Given the description of an element on the screen output the (x, y) to click on. 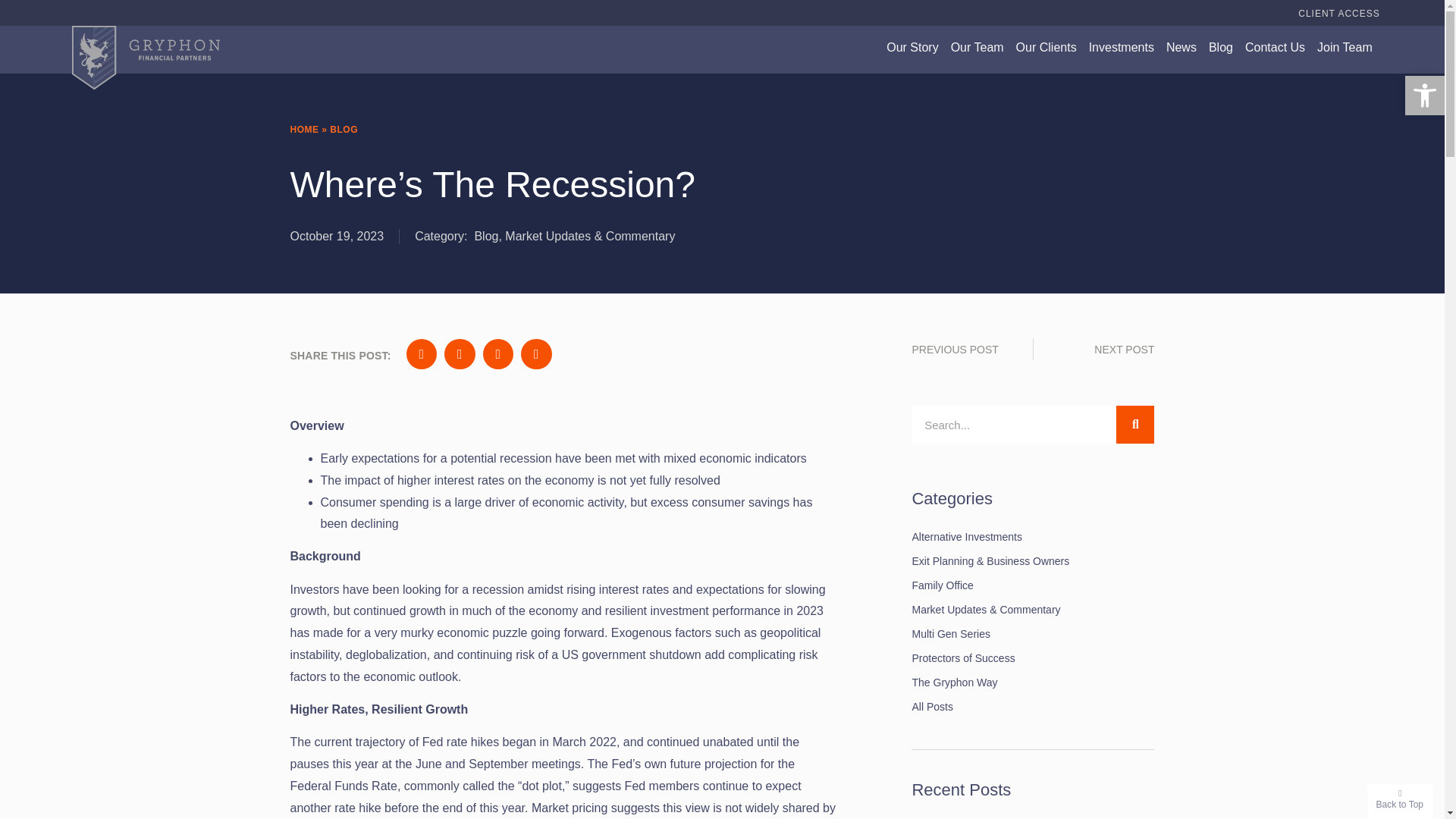
Our Story (911, 47)
Accessibility Tools (1424, 95)
CLIENT ACCESS (1338, 13)
Join Team (1345, 47)
Our Clients (1046, 47)
Our Team (977, 47)
Contact Us (1274, 47)
Investments (1121, 47)
